Given the description of an element on the screen output the (x, y) to click on. 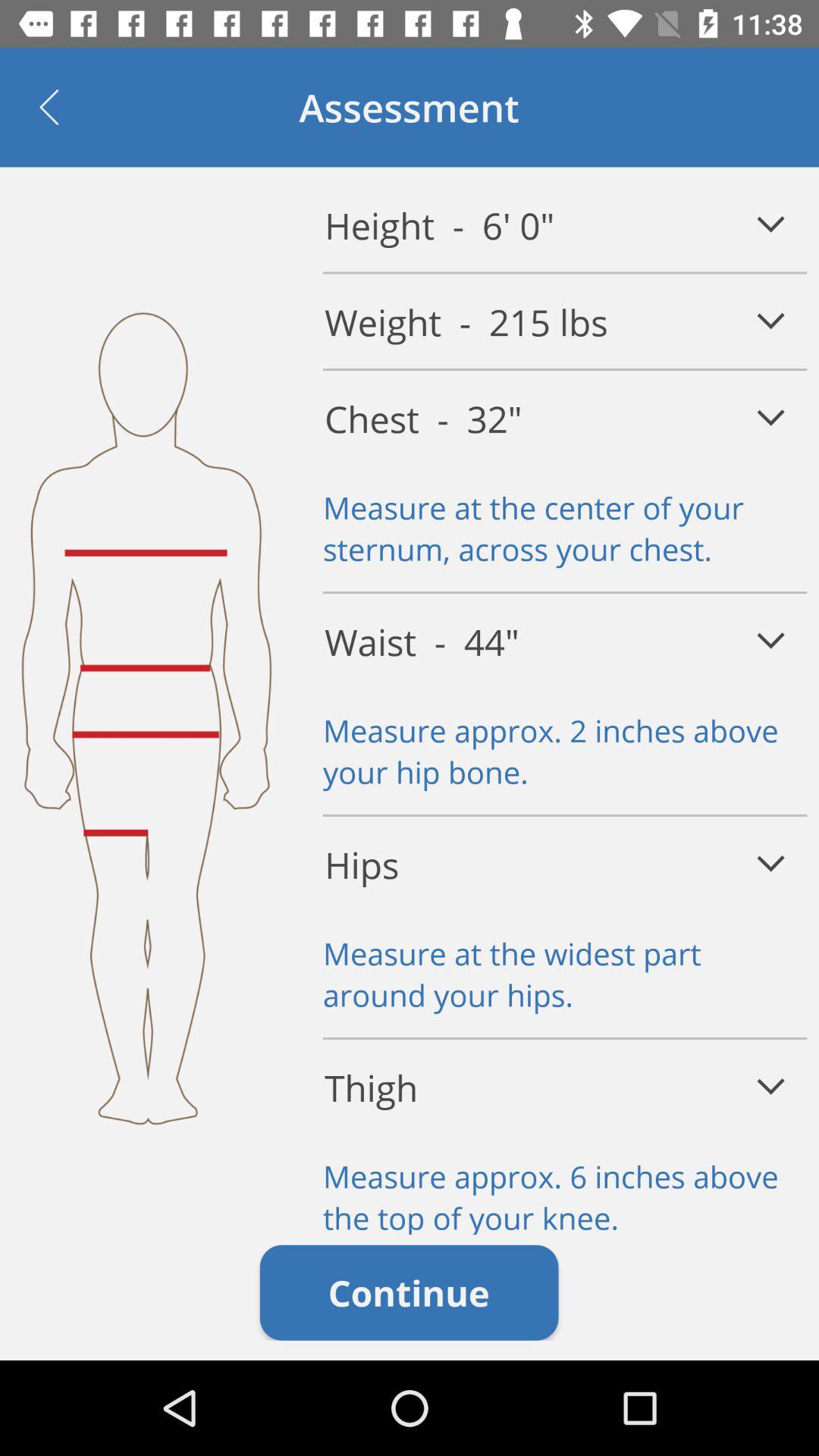
press item at the top left corner (49, 107)
